Given the description of an element on the screen output the (x, y) to click on. 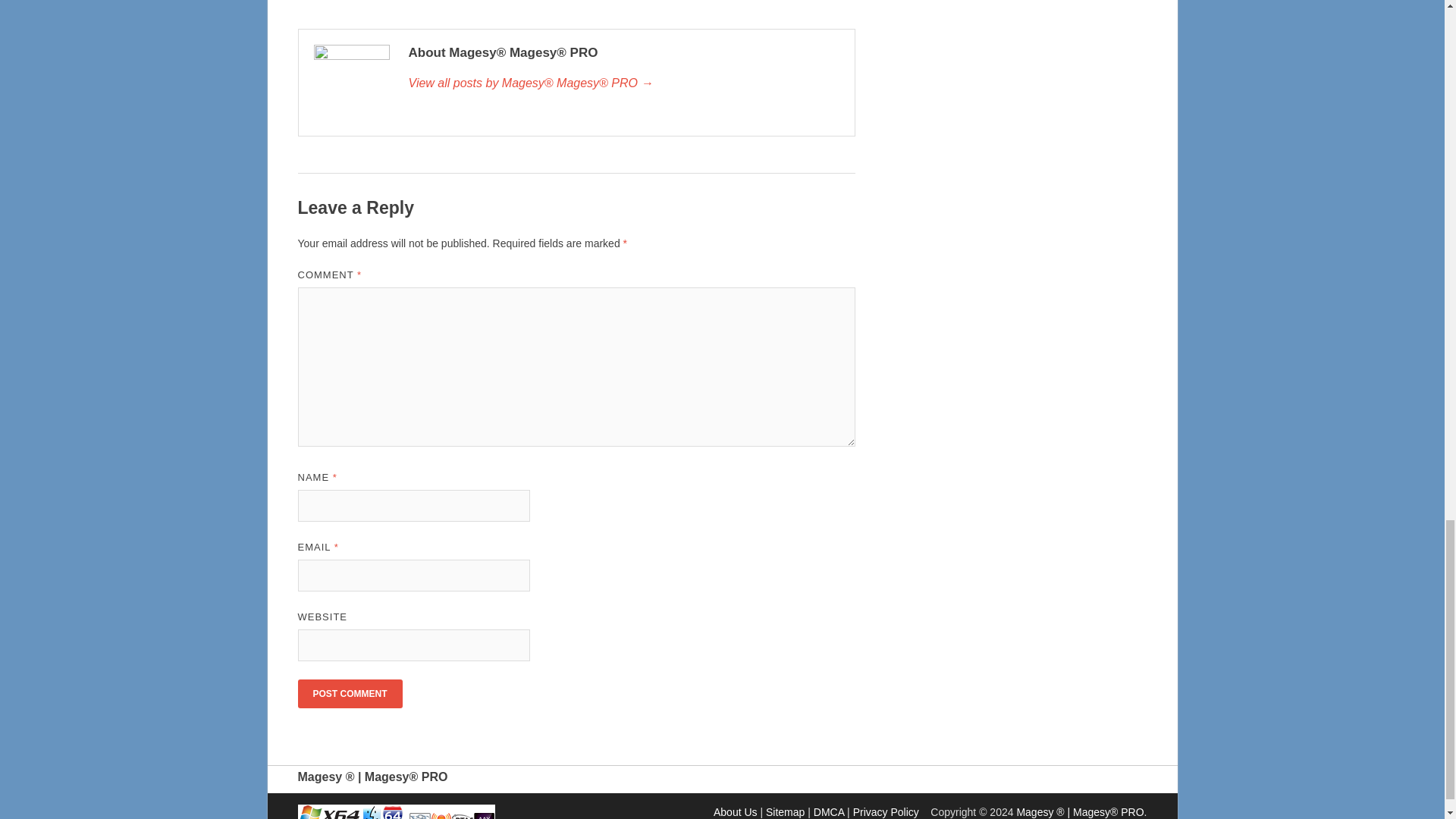
Post Comment (349, 693)
